Given the description of an element on the screen output the (x, y) to click on. 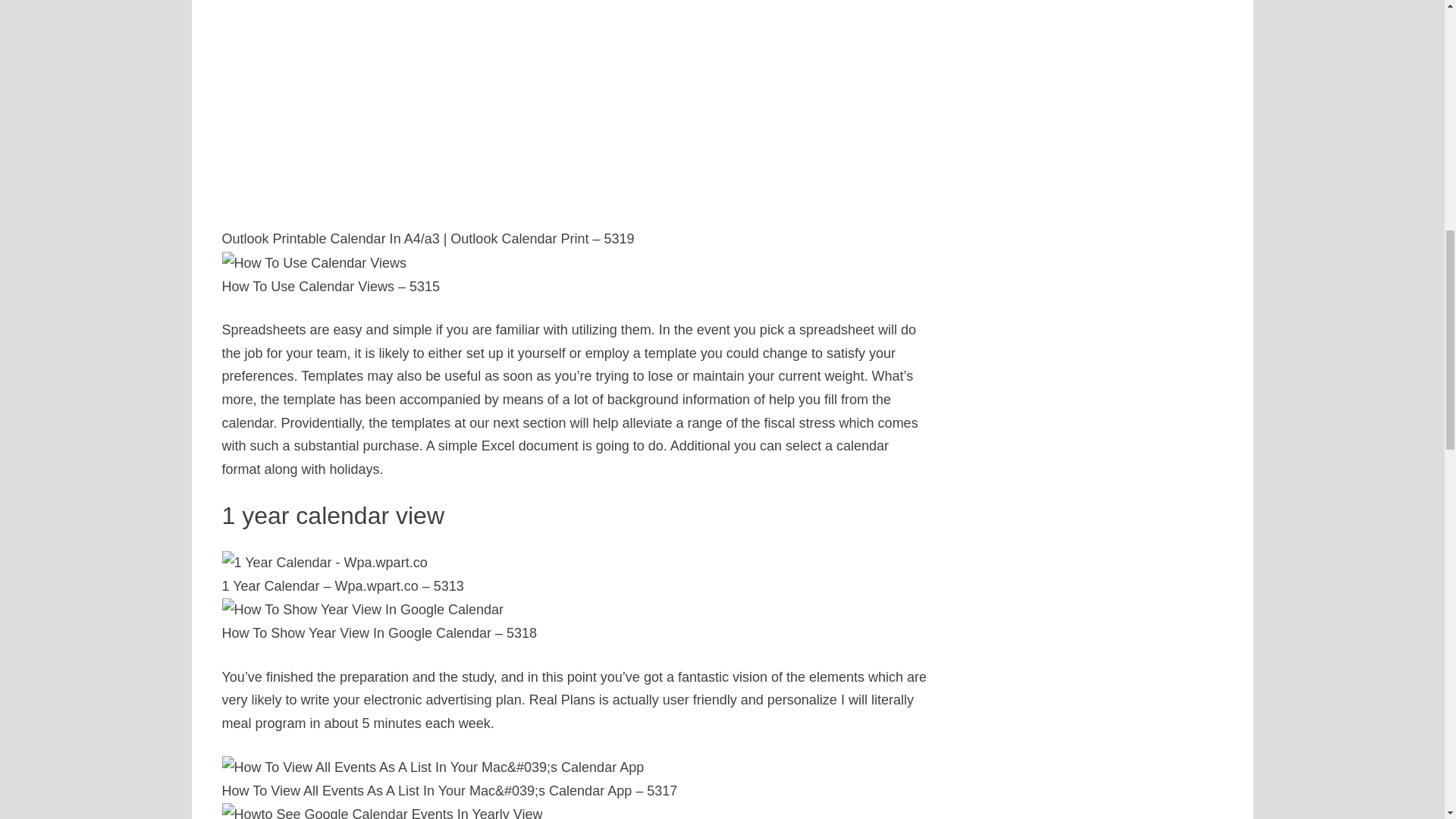
1 Year Calendar - Wpa.wpart.co (323, 562)
Howto See Google Calendar Events In Yearly View (381, 811)
How To Use Calendar Views (313, 263)
How To Show Year View In Google Calendar (362, 609)
